Given the description of an element on the screen output the (x, y) to click on. 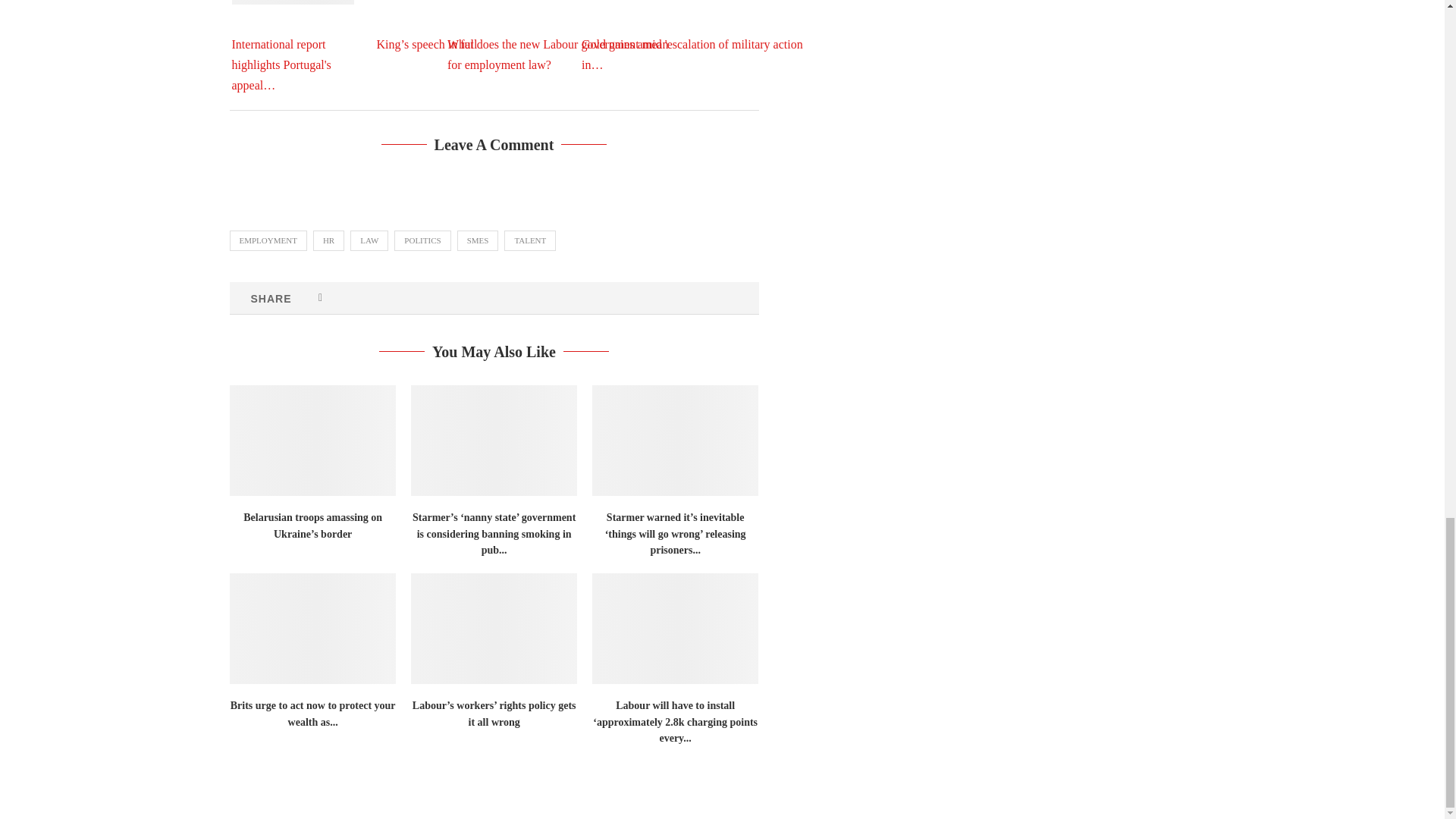
What does the new Labour government mean for employment law? (560, 36)
